Given the description of an element on the screen output the (x, y) to click on. 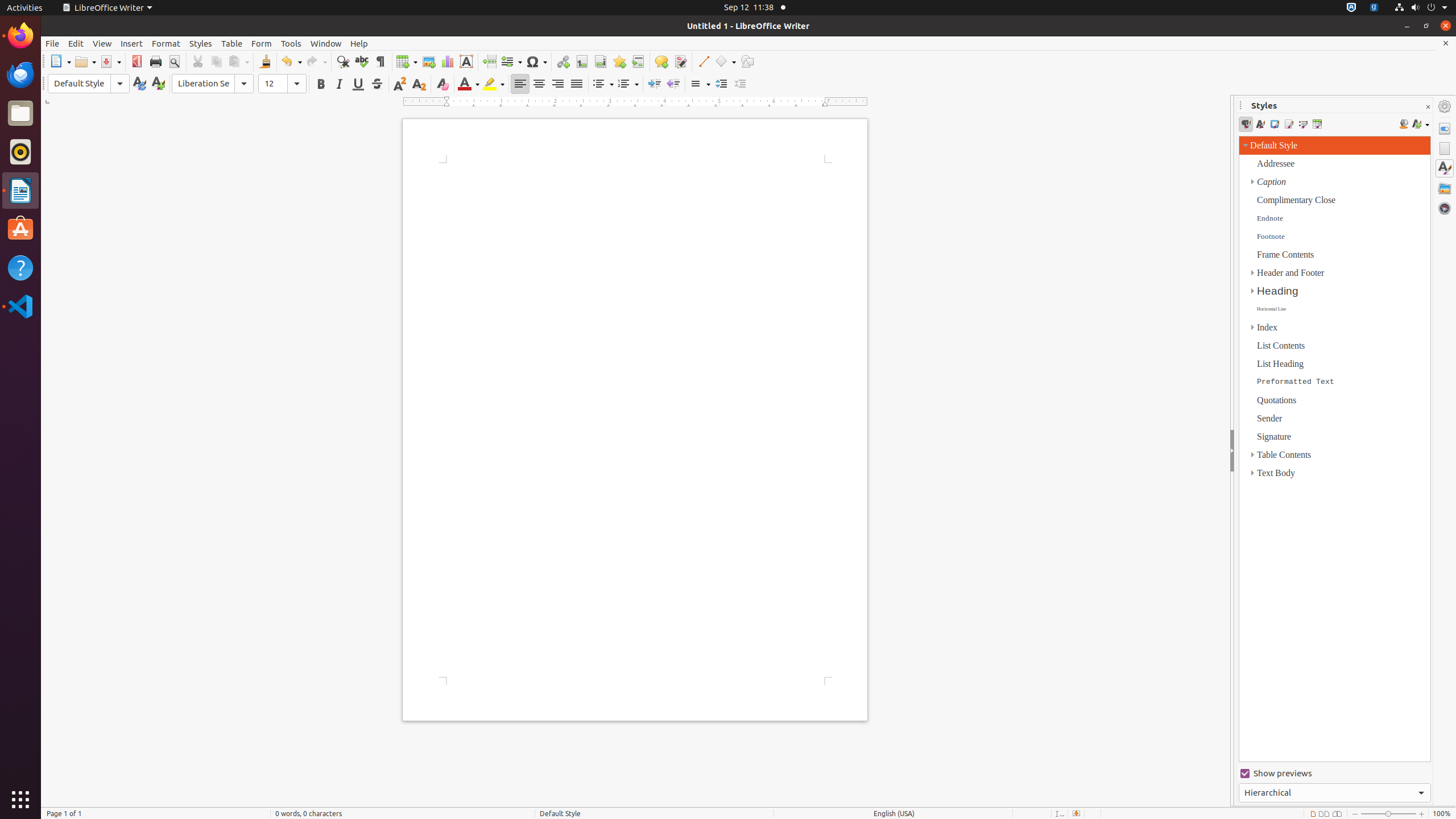
Character Styles Element type: push-button (1259, 123)
Horizontal Ruler Element type: ruler (635, 101)
Save Element type: push-button (109, 61)
Draw Functions Element type: push-button (746, 61)
Subscript Element type: toggle-button (418, 83)
